Given the description of an element on the screen output the (x, y) to click on. 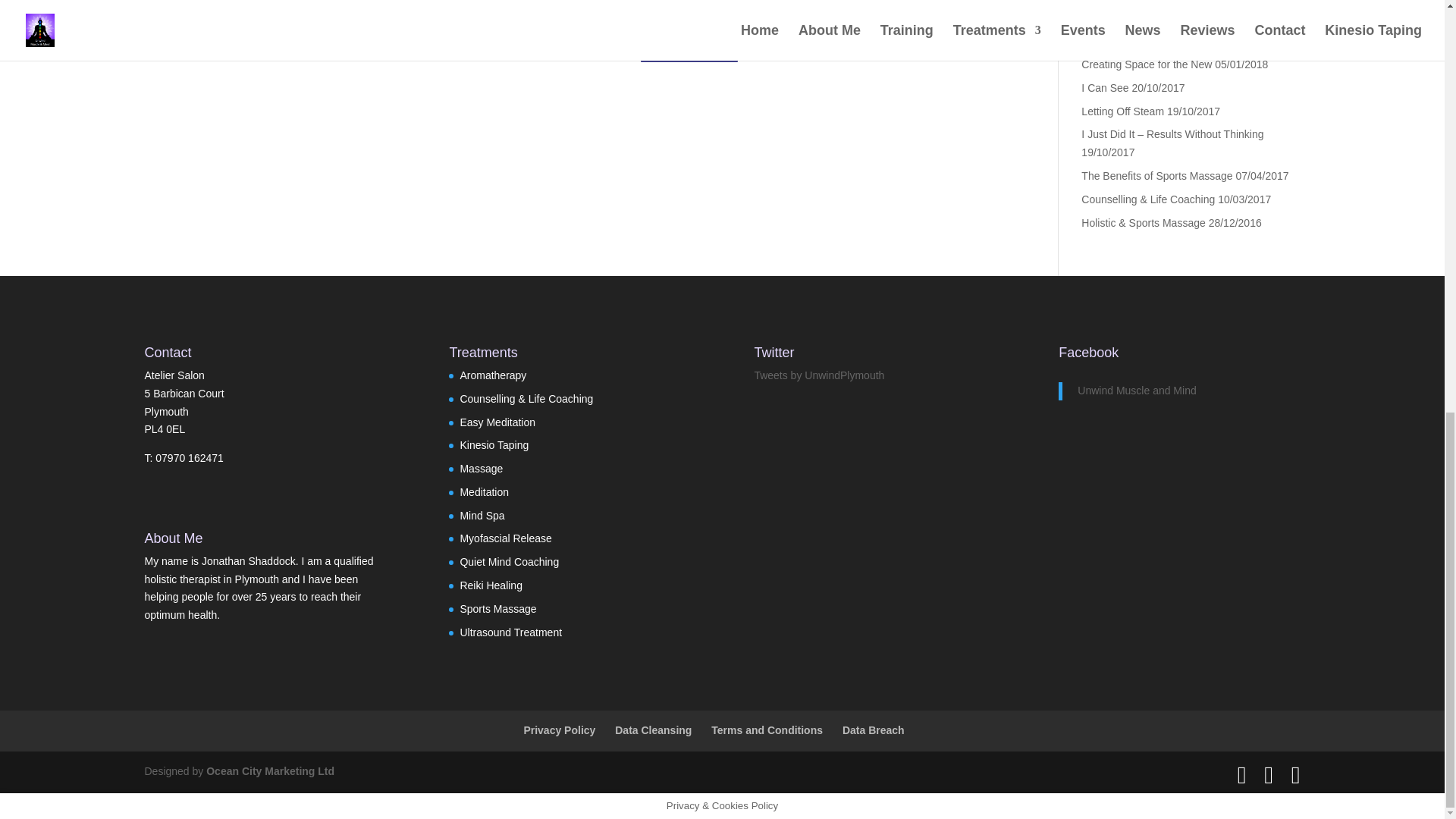
Book now (689, 44)
Web Design Plymouth (270, 770)
